Given the description of an element on the screen output the (x, y) to click on. 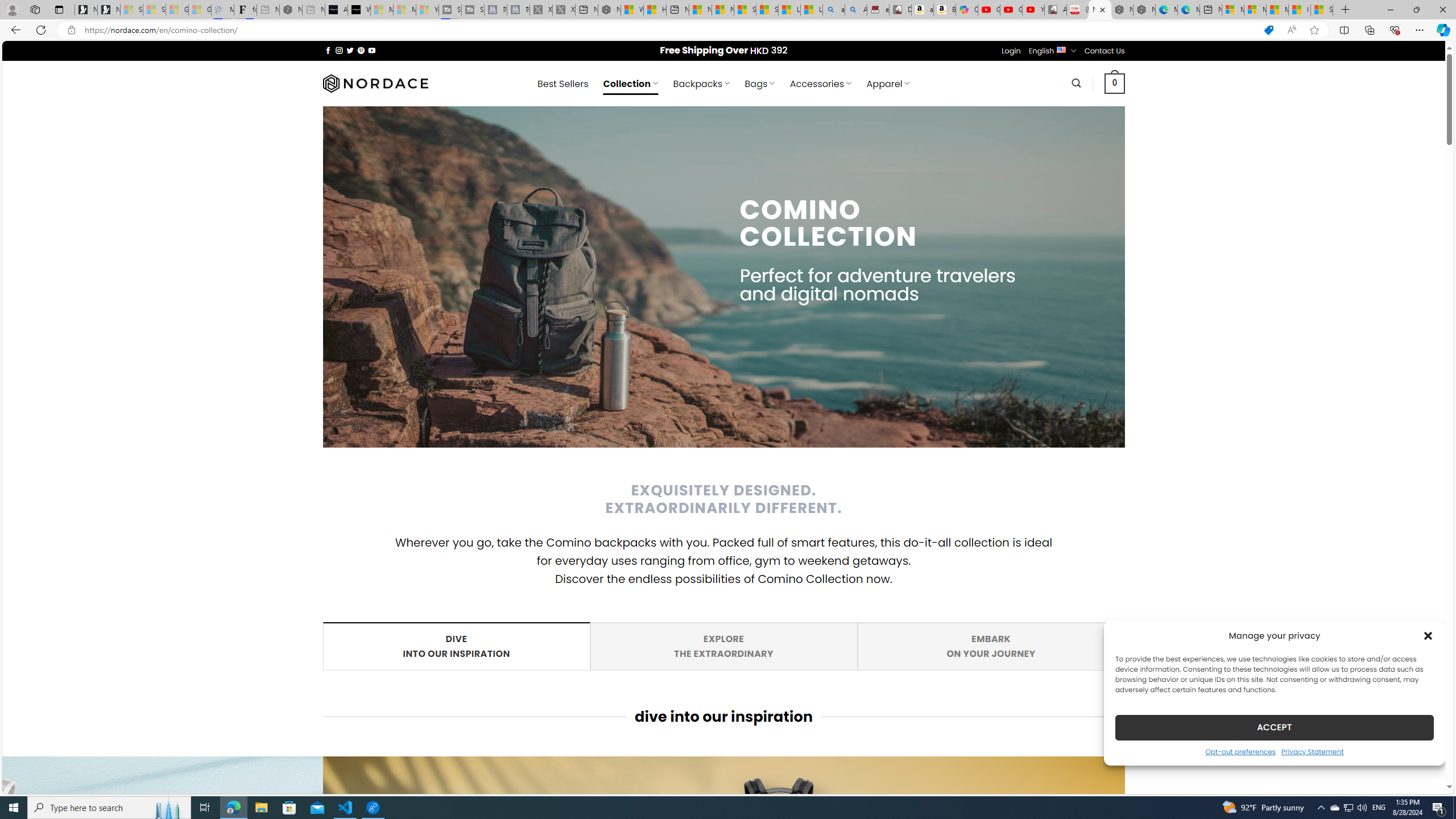
Copilot (966, 9)
Opt-out preferences (991, 645)
Amazon Echo Dot PNG - Search Images (1240, 750)
amazon.in/dp/B0CX59H5W7/?tag=gsmcom05-21 (856, 9)
EMBARK ON YOUR JOURNEY (923, 9)
Follow on Facebook (991, 645)
